Given the description of an element on the screen output the (x, y) to click on. 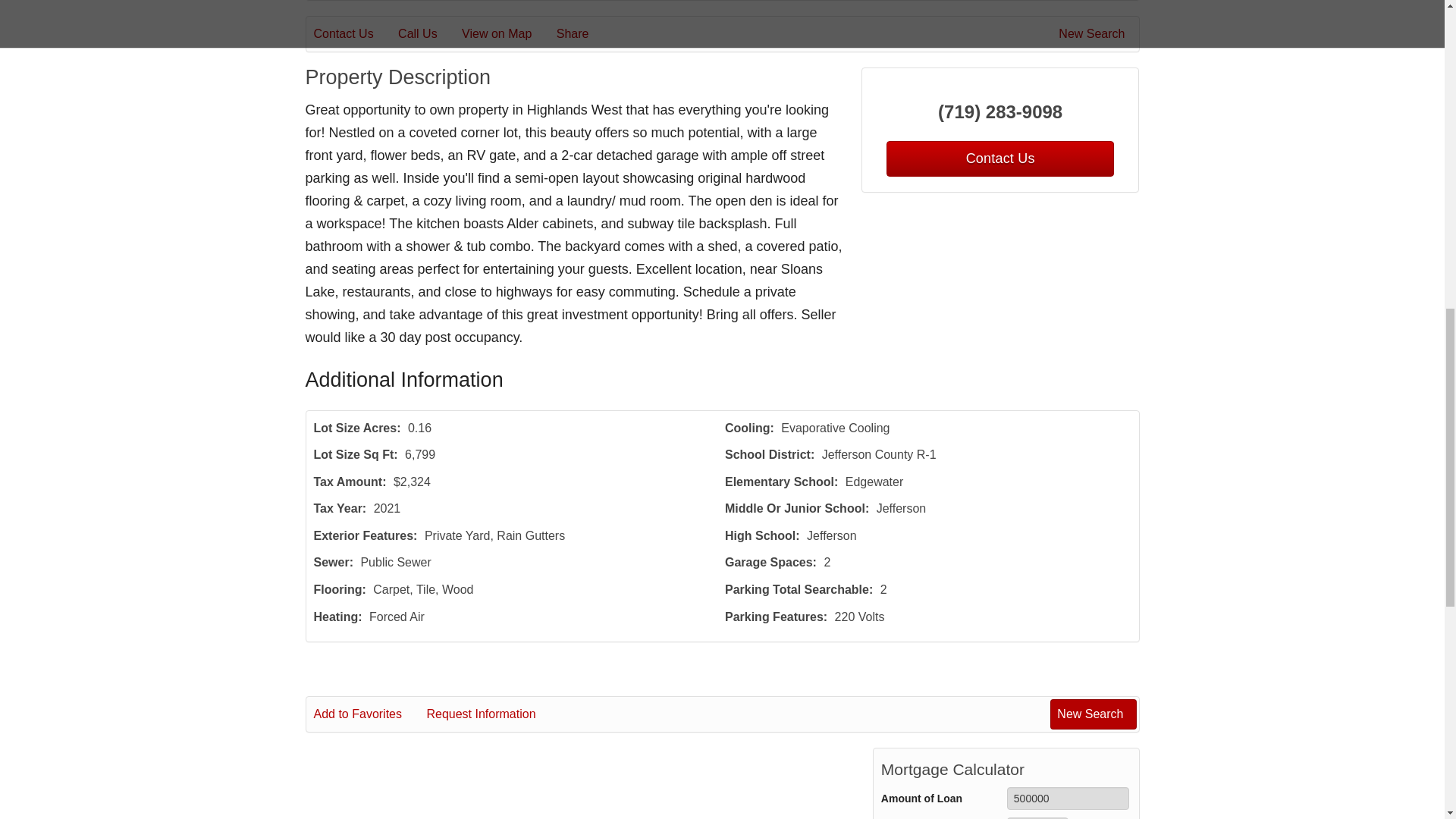
Contact Us (999, 158)
6 (1037, 818)
New Search (1094, 33)
Call Us (427, 33)
Contact Us (354, 33)
500000 (1068, 798)
View on Map (507, 33)
Share (583, 33)
